Given the description of an element on the screen output the (x, y) to click on. 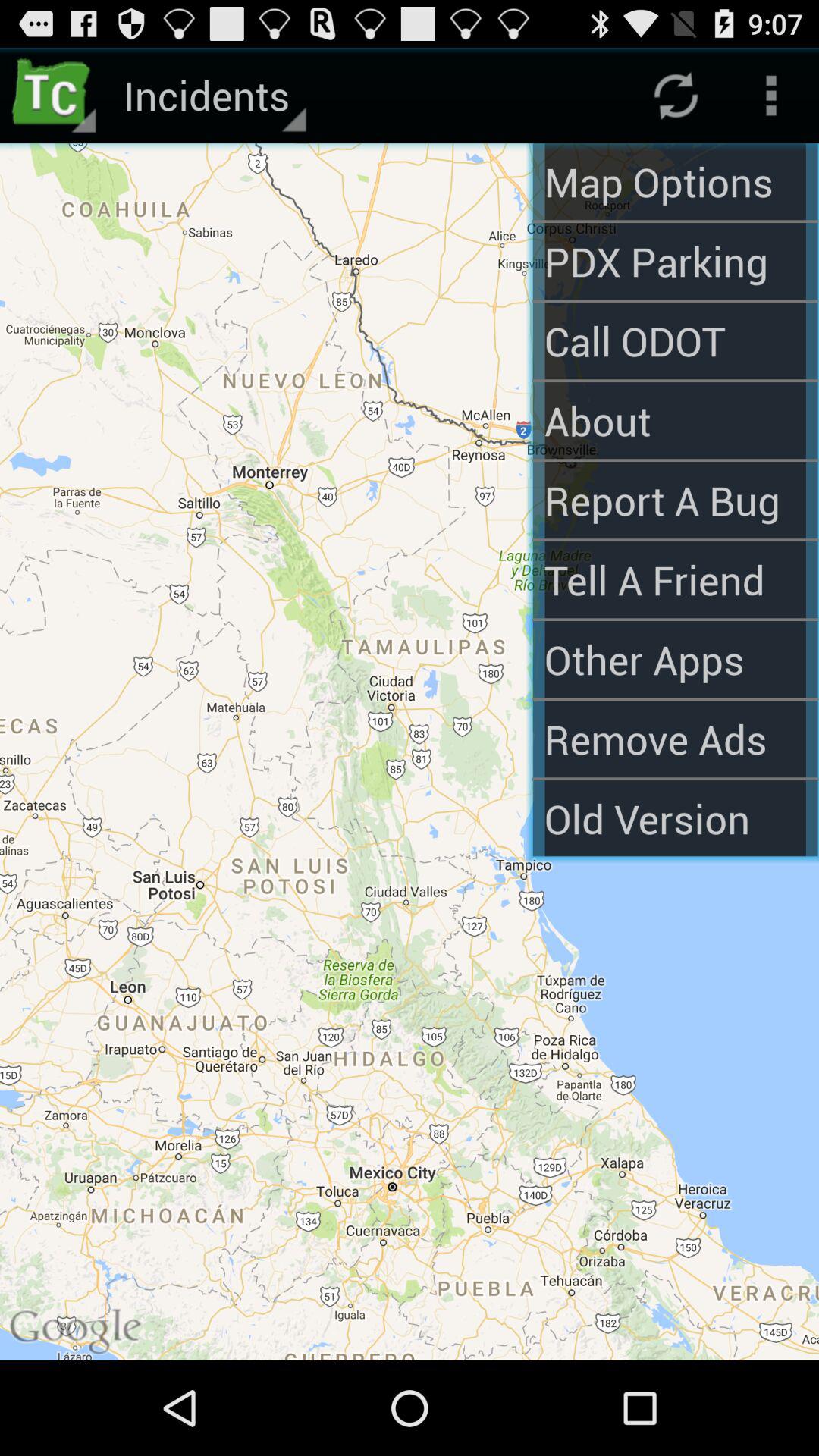
swipe to the call odot app (675, 340)
